Given the description of an element on the screen output the (x, y) to click on. 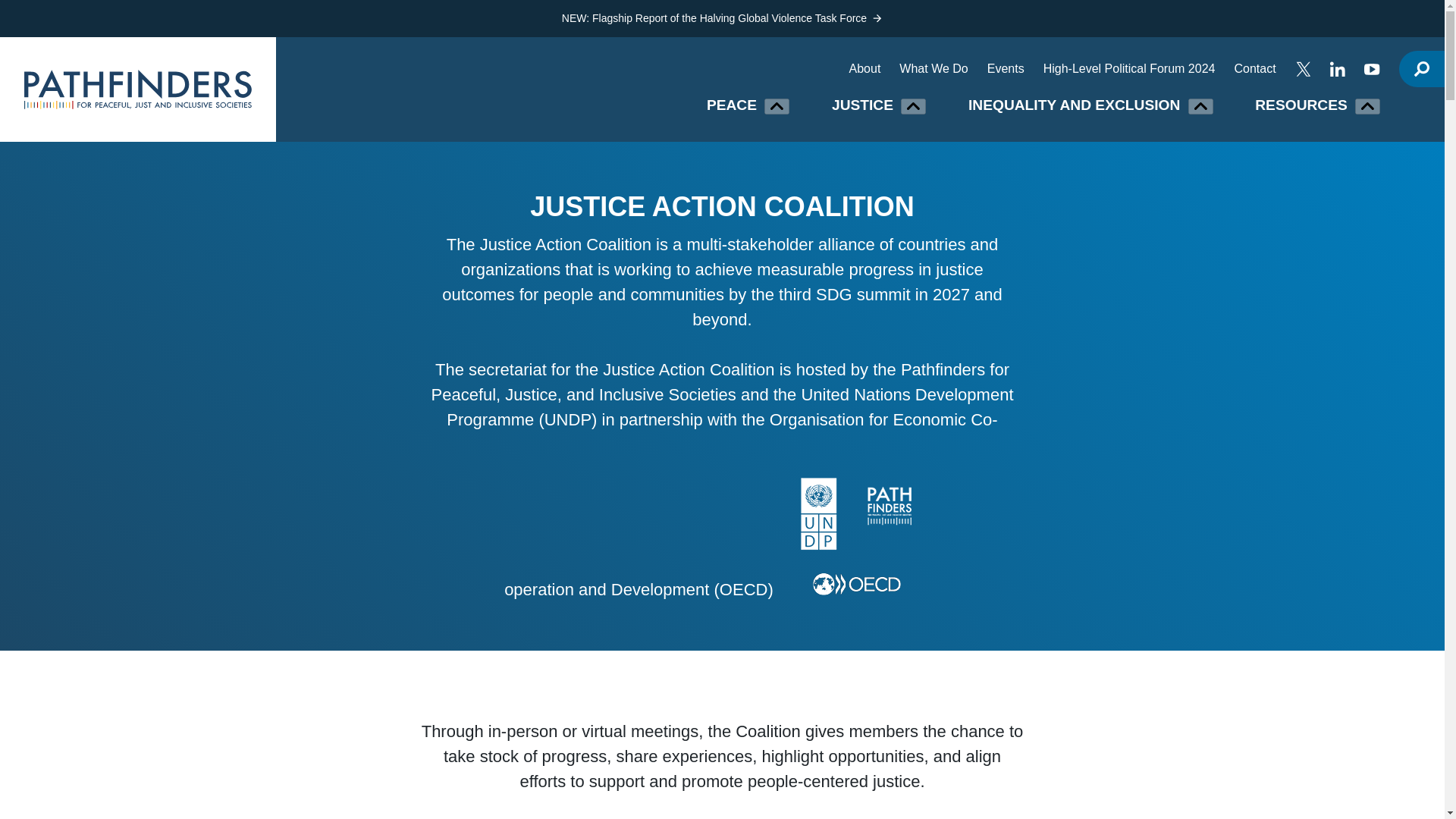
What We Do (933, 68)
About (864, 68)
